Given the description of an element on the screen output the (x, y) to click on. 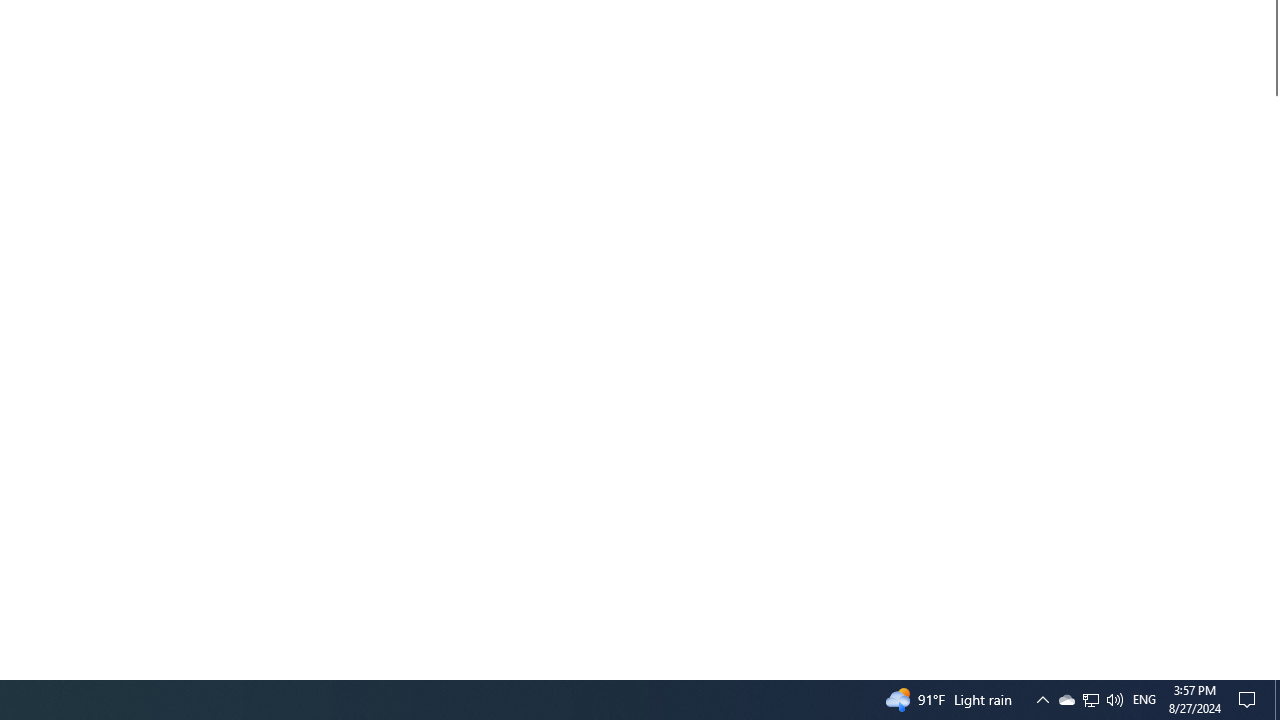
User Promoted Notification Area (1090, 699)
Action Center, No new notifications (1250, 699)
Vertical Large Increase (1272, 379)
Vertical Small Increase (1091, 699)
Q2790: 100% (1272, 671)
Tray Input Indicator - English (United States) (1114, 699)
Show desktop (1144, 699)
Notification Chevron (1066, 699)
